Given the description of an element on the screen output the (x, y) to click on. 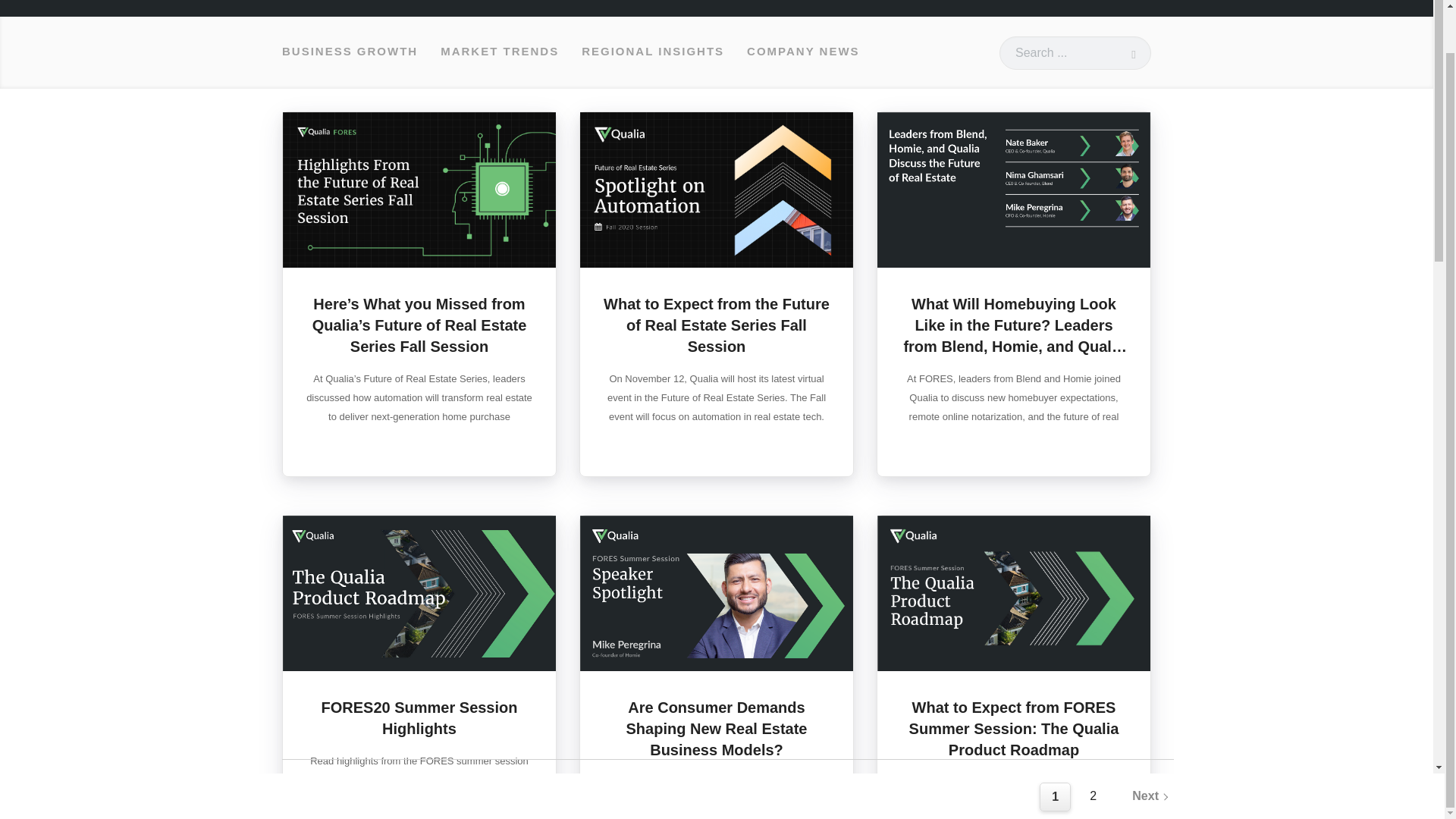
COMPANY NEWS (802, 51)
MARKET TRENDS (499, 51)
BUSINESS GROWTH (350, 51)
REGIONAL INSIGHTS (652, 51)
FORES20 Summer Session Highlights (419, 718)
